Given the description of an element on the screen output the (x, y) to click on. 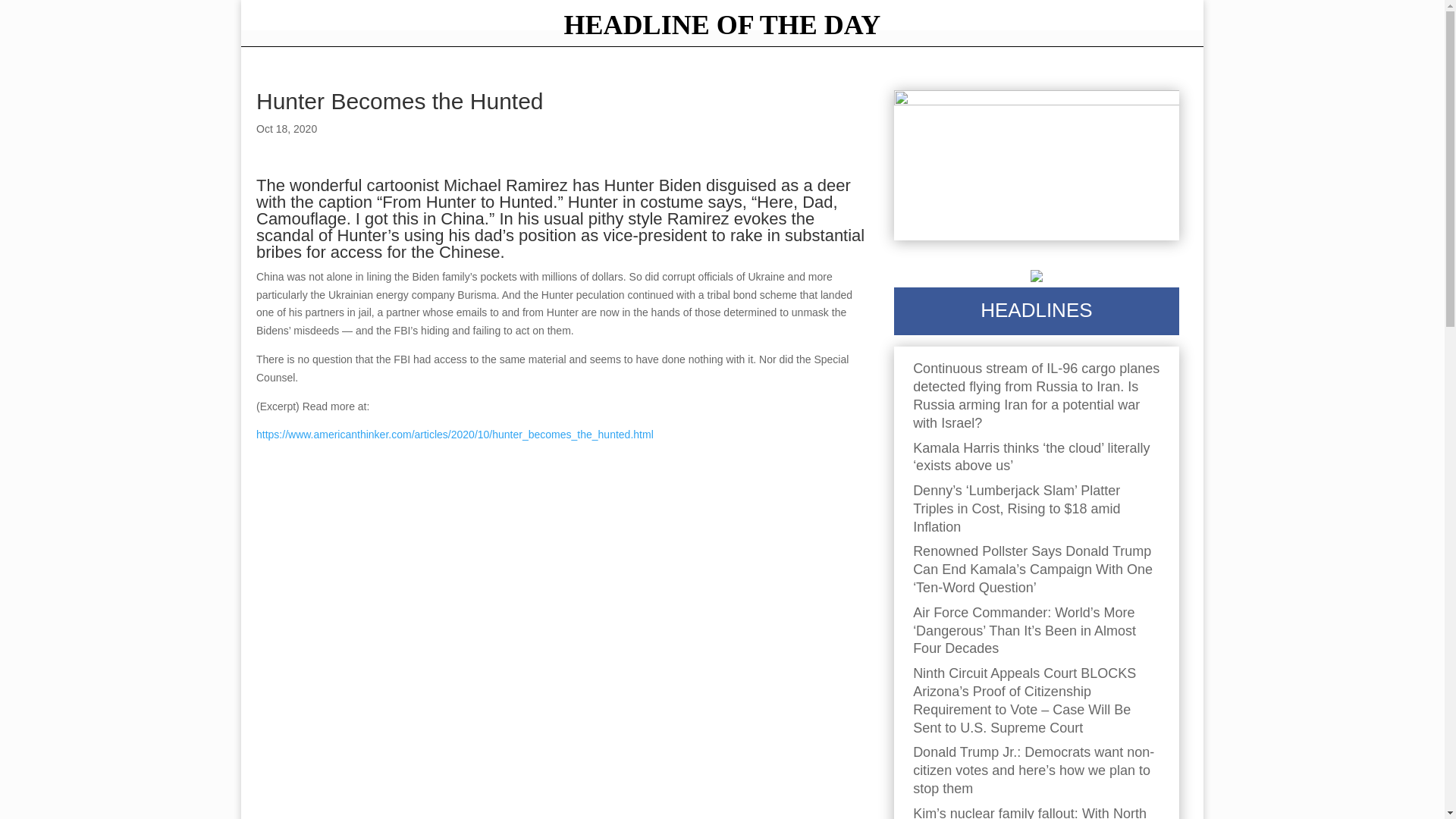
Home Page (721, 28)
